Given the description of an element on the screen output the (x, y) to click on. 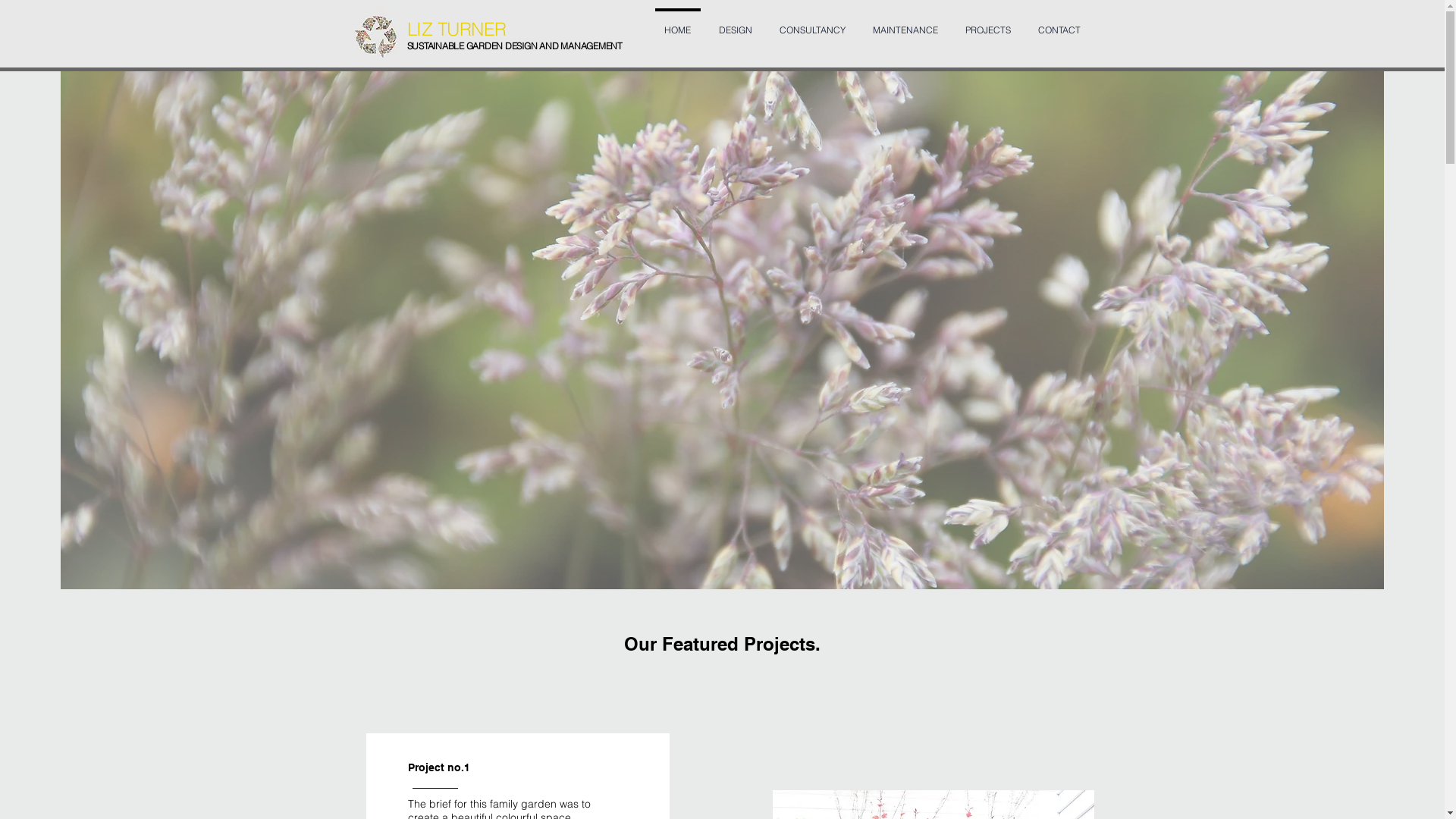
DESIGN Element type: text (735, 23)
HOME Element type: text (677, 23)
PROJECTS Element type: text (986, 23)
CONTACT Element type: text (1058, 23)
MAINTENANCE Element type: text (904, 23)
LIZ TURNER Element type: text (455, 29)
CONSULTANCY Element type: text (812, 23)
